Given the description of an element on the screen output the (x, y) to click on. 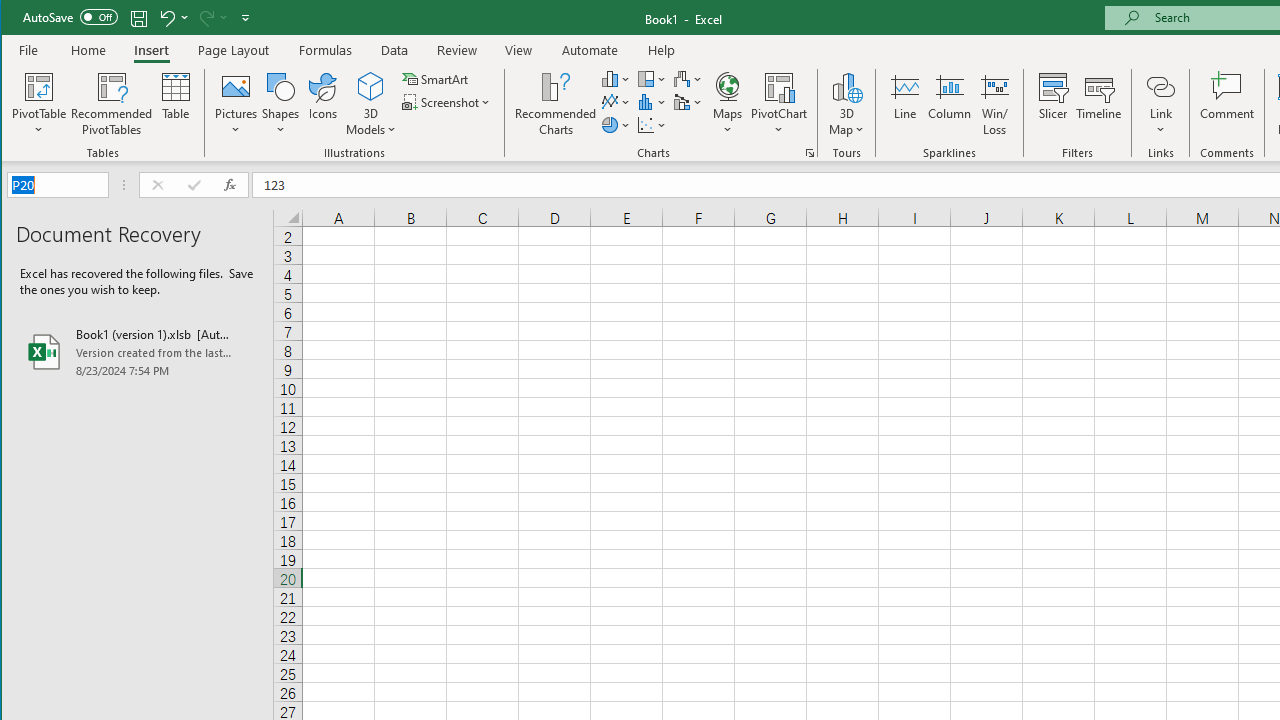
Book1 (version 1).xlsb  [AutoRecovered] (137, 352)
Link (1160, 86)
Recommended PivotTables (111, 104)
PivotChart (779, 86)
SmartArt... (436, 78)
Win/Loss (995, 104)
Insert Statistic Chart (652, 101)
Column (949, 104)
Insert Line or Area Chart (616, 101)
